Given the description of an element on the screen output the (x, y) to click on. 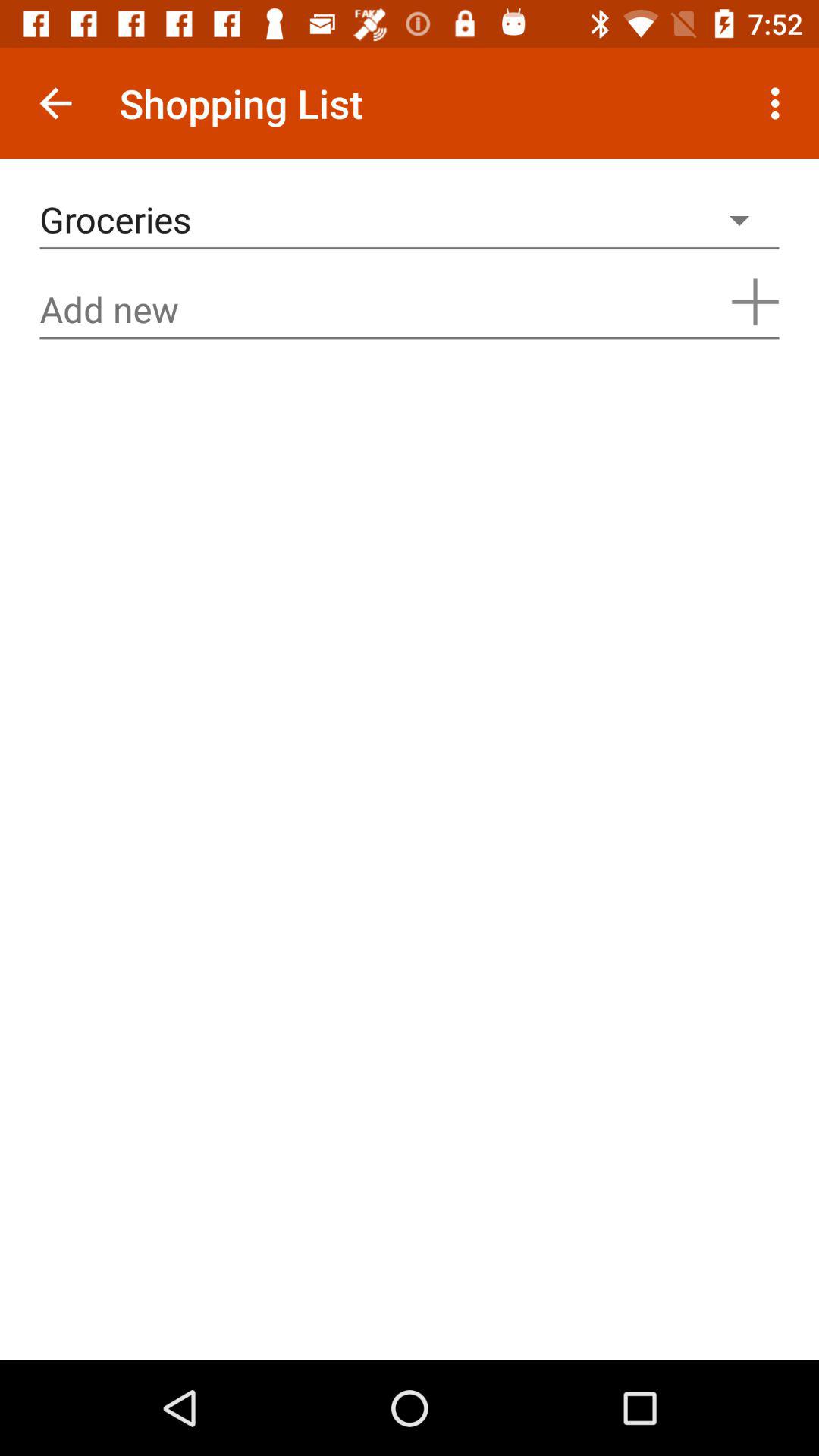
add new (409, 309)
